Given the description of an element on the screen output the (x, y) to click on. 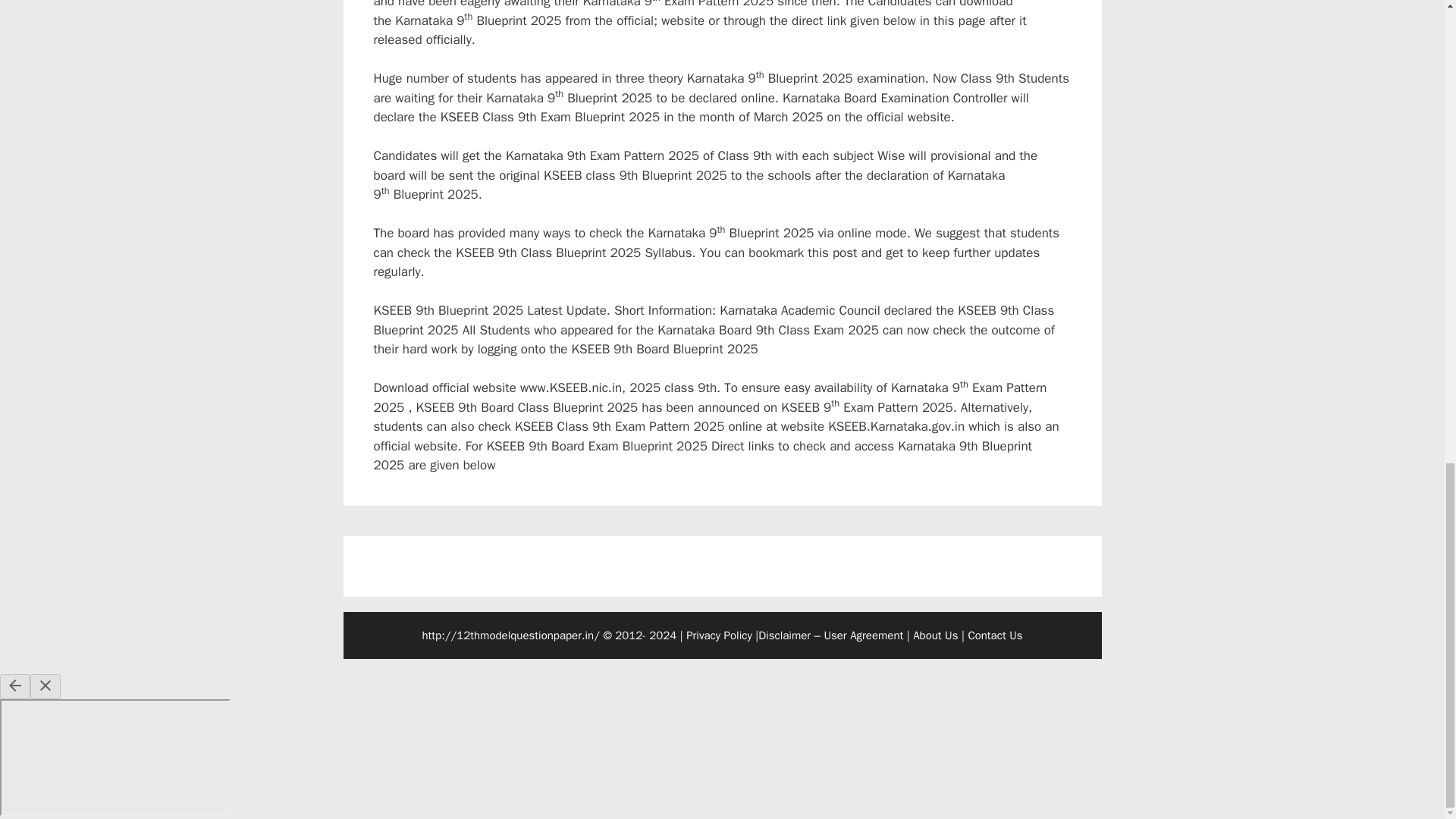
Contact Us (995, 635)
About Us (935, 635)
Privacy Policy (718, 635)
